Given the description of an element on the screen output the (x, y) to click on. 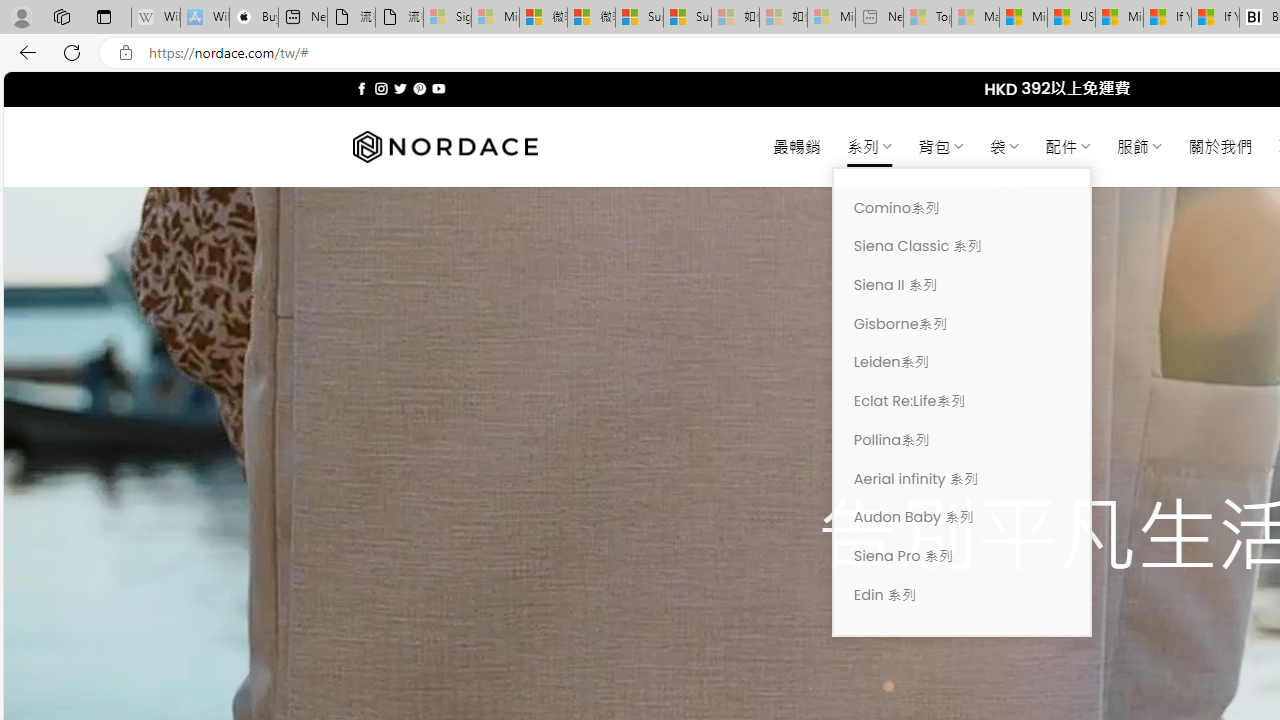
Follow on Instagram (381, 88)
Top Stories - MSN - Sleeping (927, 17)
Marine life - MSN - Sleeping (975, 17)
